Given the description of an element on the screen output the (x, y) to click on. 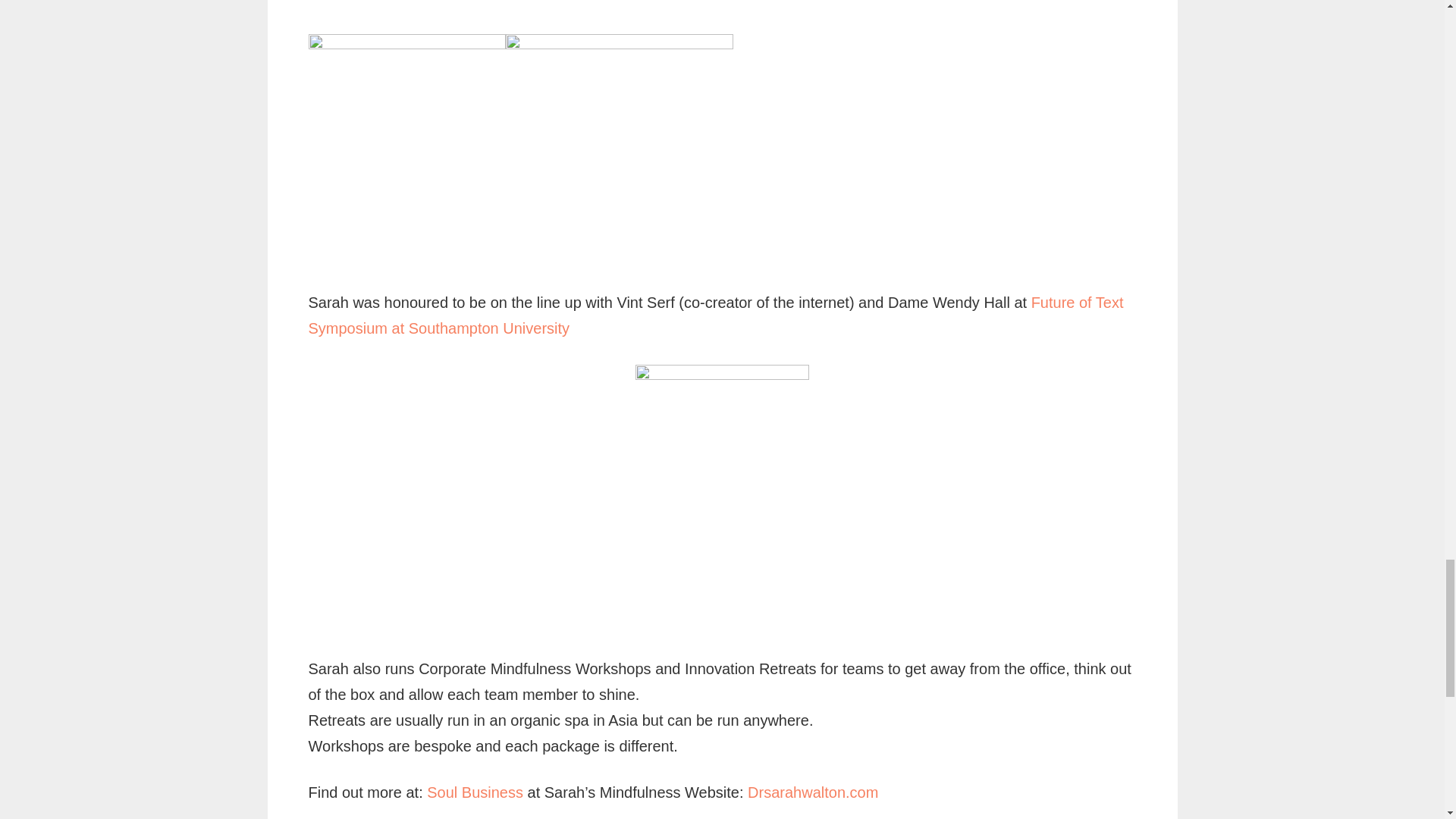
Soul Business (476, 791)
Future of Text Symposium at Southampton University (714, 315)
Drsarahwalton.com (812, 791)
